Given the description of an element on the screen output the (x, y) to click on. 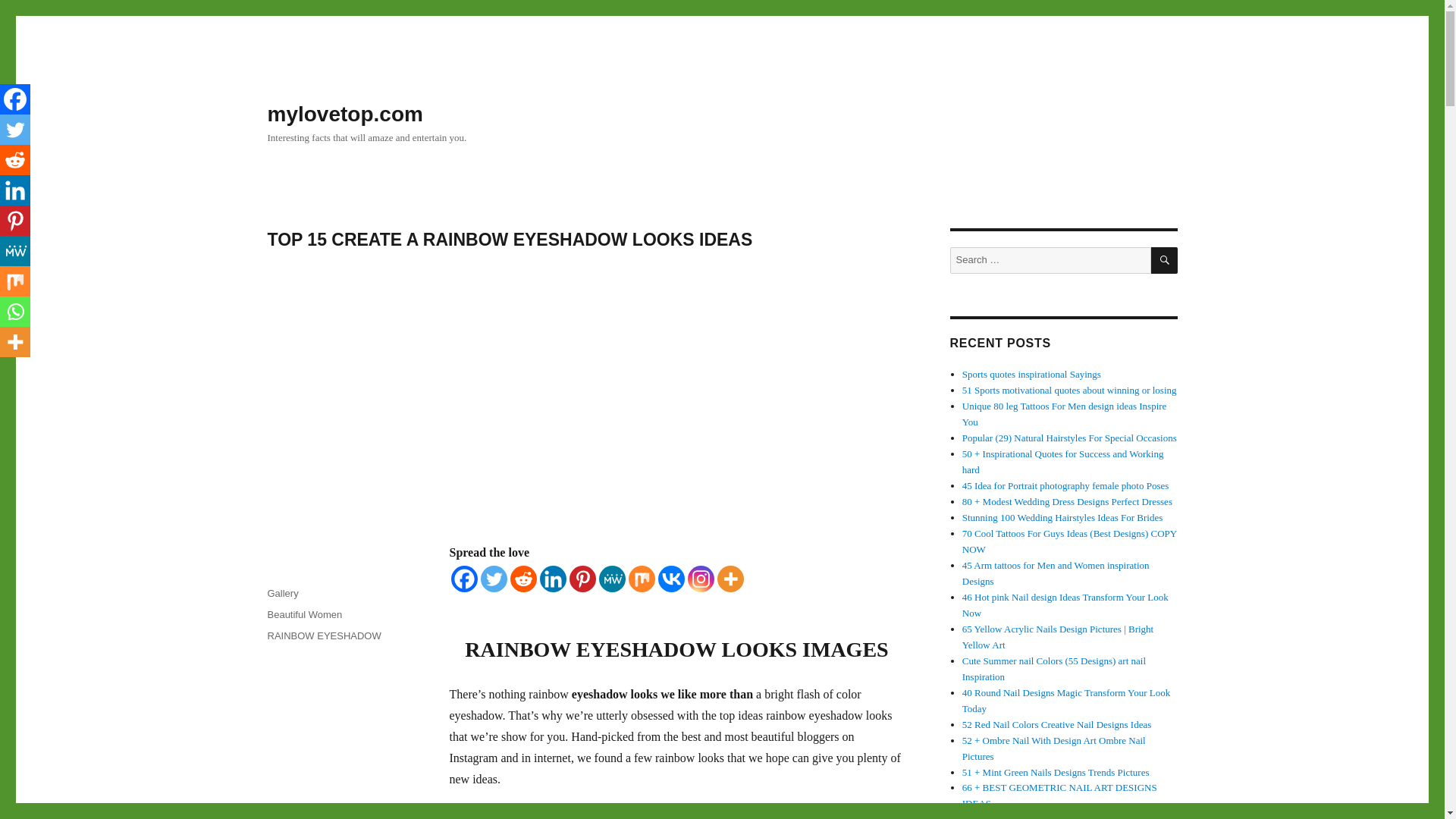
Stunning 100 Wedding Hairstyles Ideas For Brides  (1064, 517)
Instagram (700, 578)
Unique 80 leg Tattoos For Men design ideas Inspire You (1064, 413)
Linkedin (553, 578)
Linkedin (15, 190)
Gallery (282, 593)
Twitter (493, 578)
SEARCH (1164, 260)
51 Sports motivational quotes about winning or losing (1069, 389)
Vkontakte (671, 578)
Reddit (522, 578)
Beautiful Women (304, 614)
Pinterest (582, 578)
Reddit (15, 159)
Pinterest (15, 220)
